Given the description of an element on the screen output the (x, y) to click on. 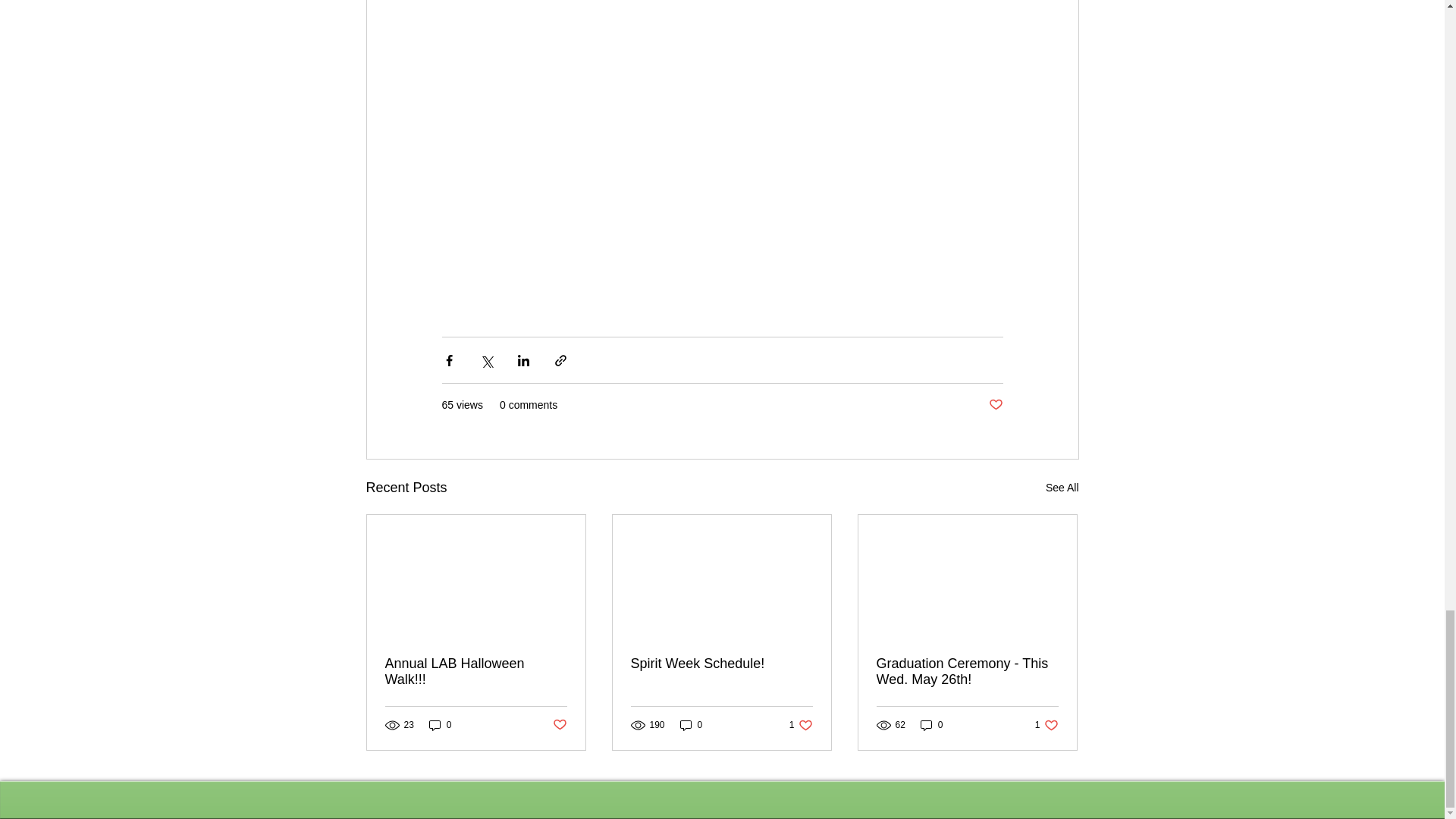
See All (1061, 487)
Annual LAB Halloween Walk!!! (476, 671)
0 (931, 724)
0 (800, 724)
Post not marked as liked (691, 724)
Spirit Week Schedule! (995, 405)
Post not marked as liked (721, 663)
Graduation Ceremony - This Wed. May 26th! (558, 725)
0 (967, 671)
